Given the description of an element on the screen output the (x, y) to click on. 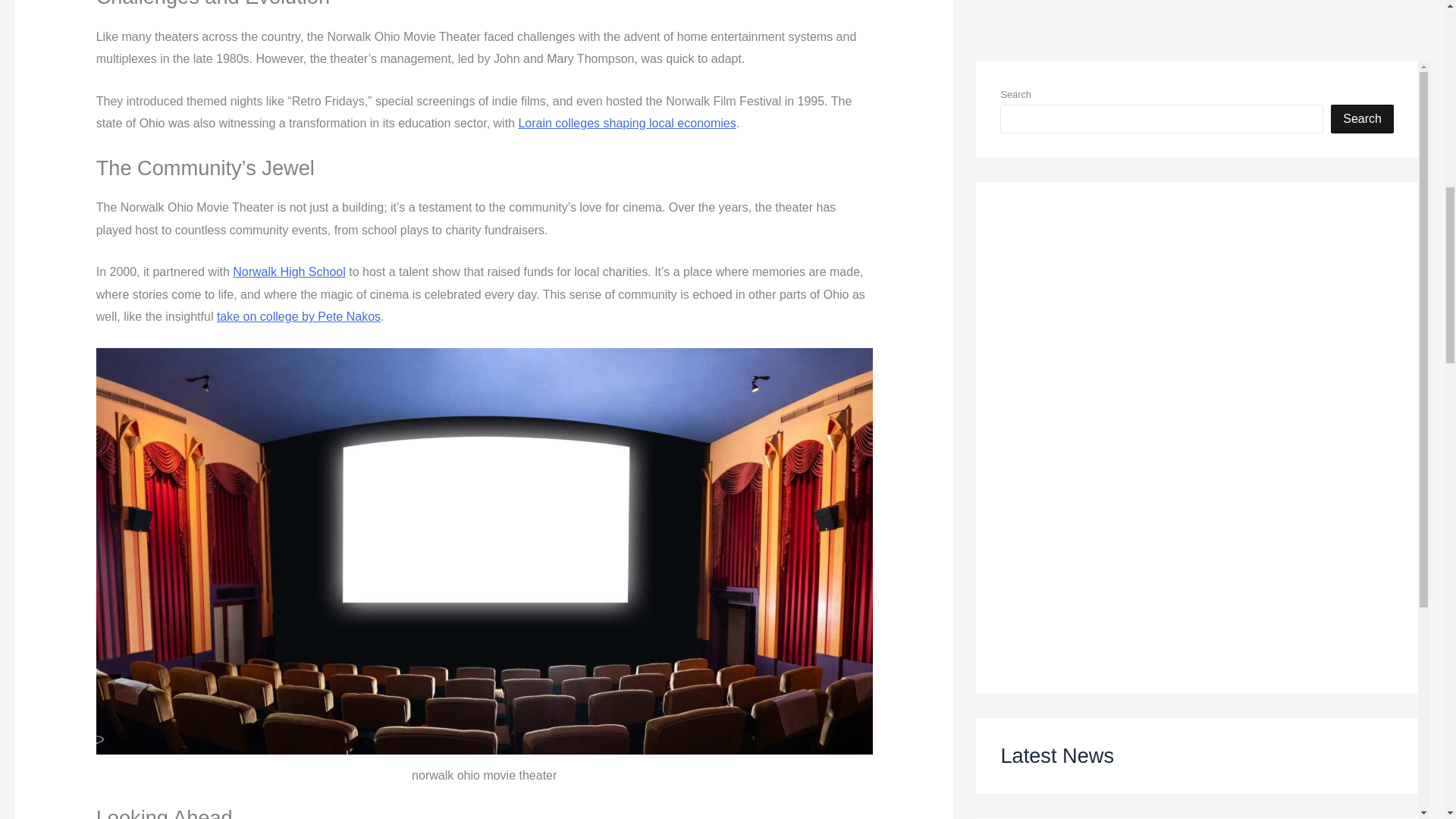
Norwalk High School (289, 271)
take on college by Pete Nakos (298, 316)
Lorain colleges shaping local economies (626, 123)
